Given the description of an element on the screen output the (x, y) to click on. 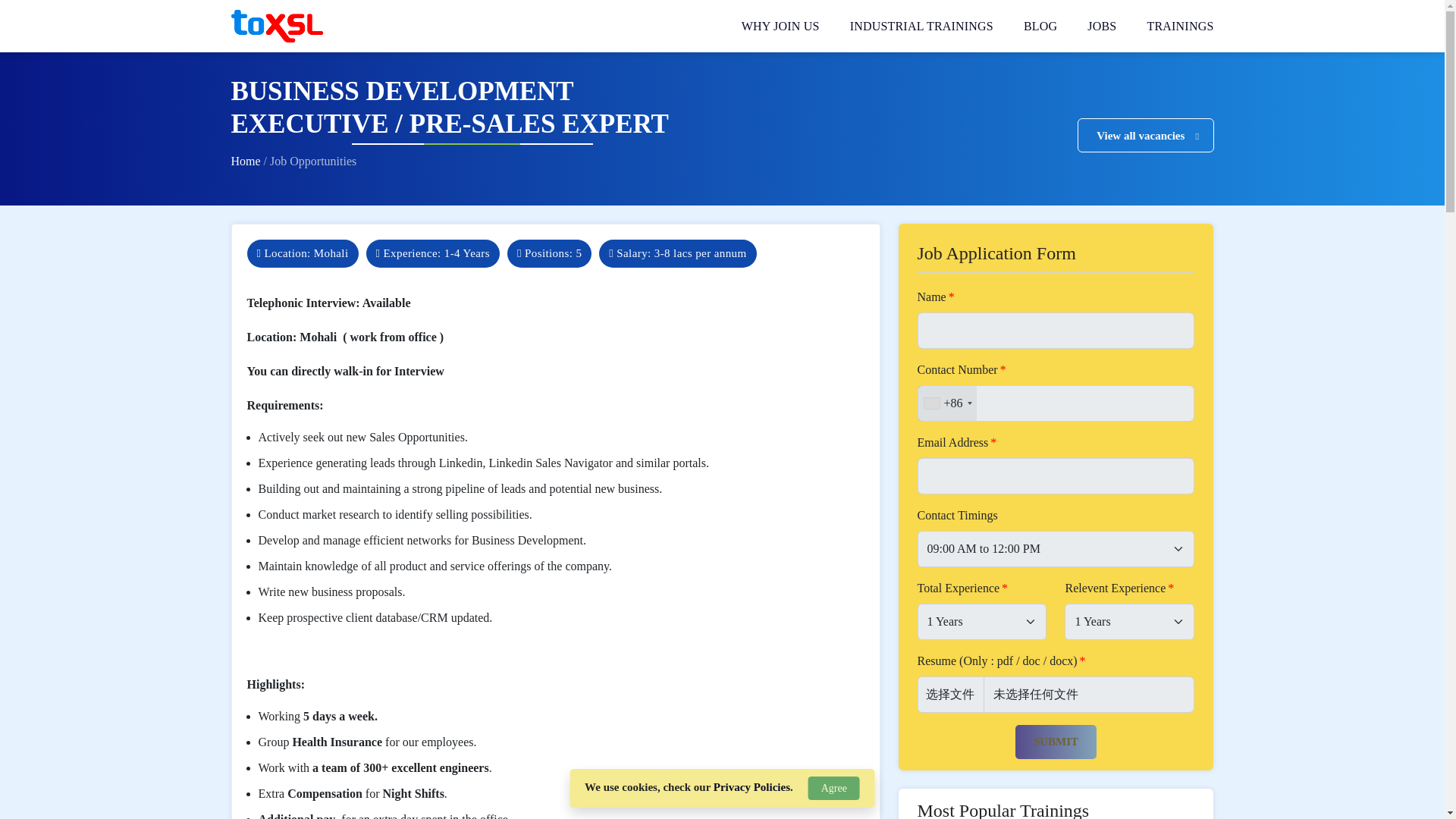
INDUSTRIAL TRAININGS (921, 25)
JOBS (1101, 25)
Experience: 1-4 Years (432, 253)
Home (246, 160)
SUBMIT (1055, 741)
BLOG (1040, 25)
TRAININGS (1179, 25)
Positions: 5 (548, 253)
Location: Mohali (302, 253)
ToXSL Technologies (275, 25)
